Given the description of an element on the screen output the (x, y) to click on. 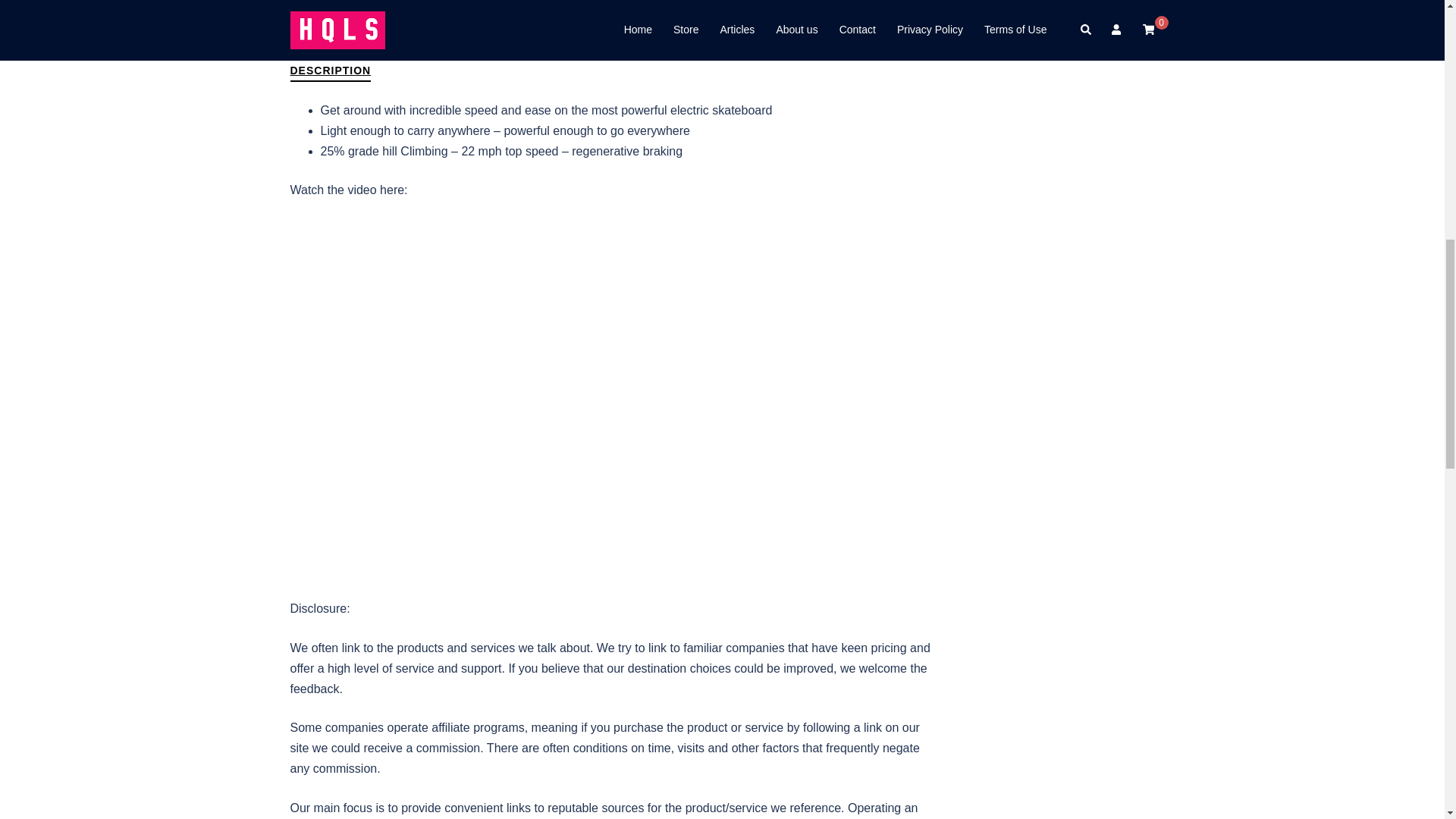
Gadgets (702, 4)
DESCRIPTION (330, 72)
